Given the description of an element on the screen output the (x, y) to click on. 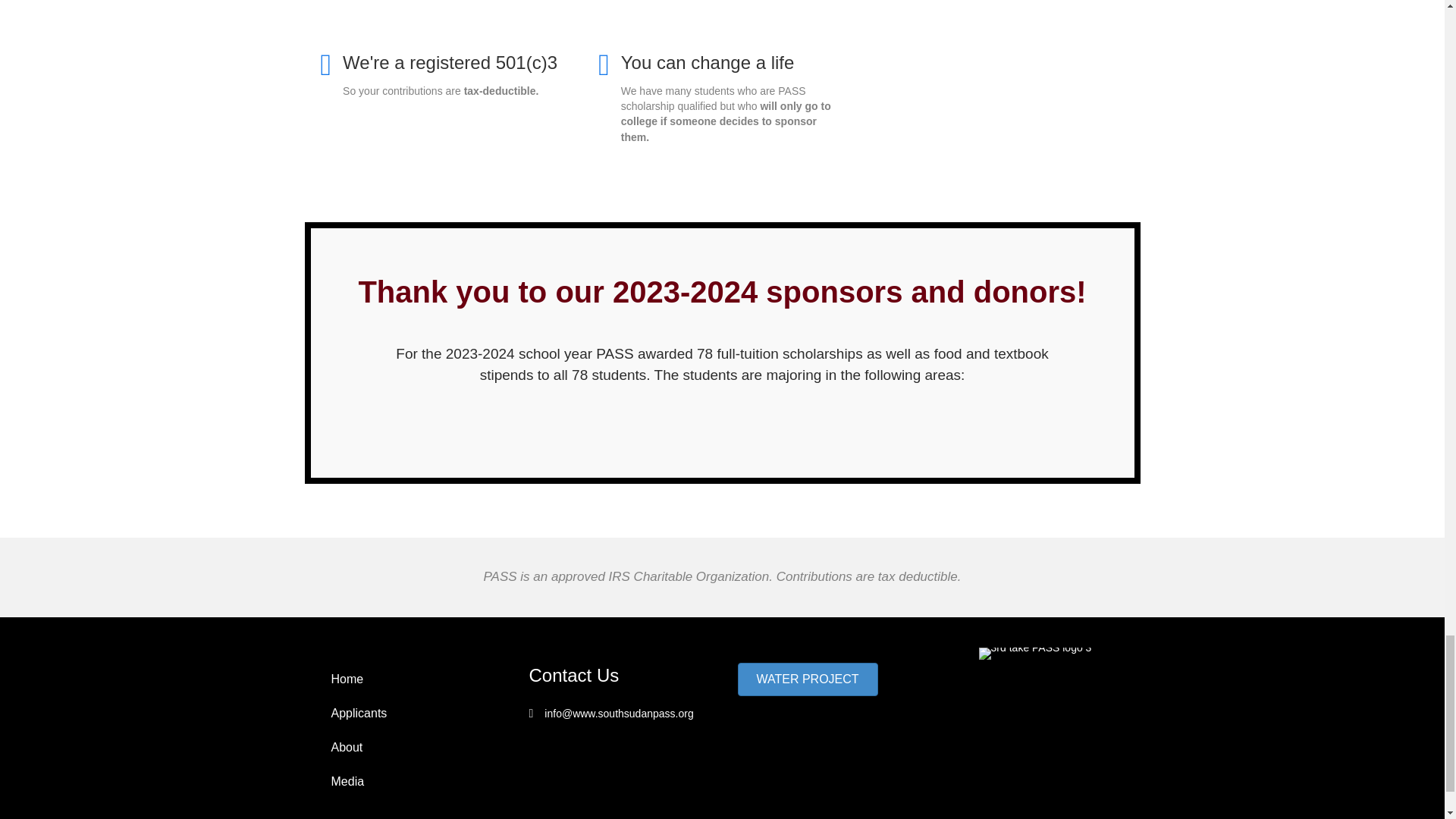
WATER PROJECT (806, 679)
3rd take PASS logo 3 (1035, 653)
Media (408, 781)
Home (408, 679)
About (408, 747)
Applicants (408, 713)
